Given the description of an element on the screen output the (x, y) to click on. 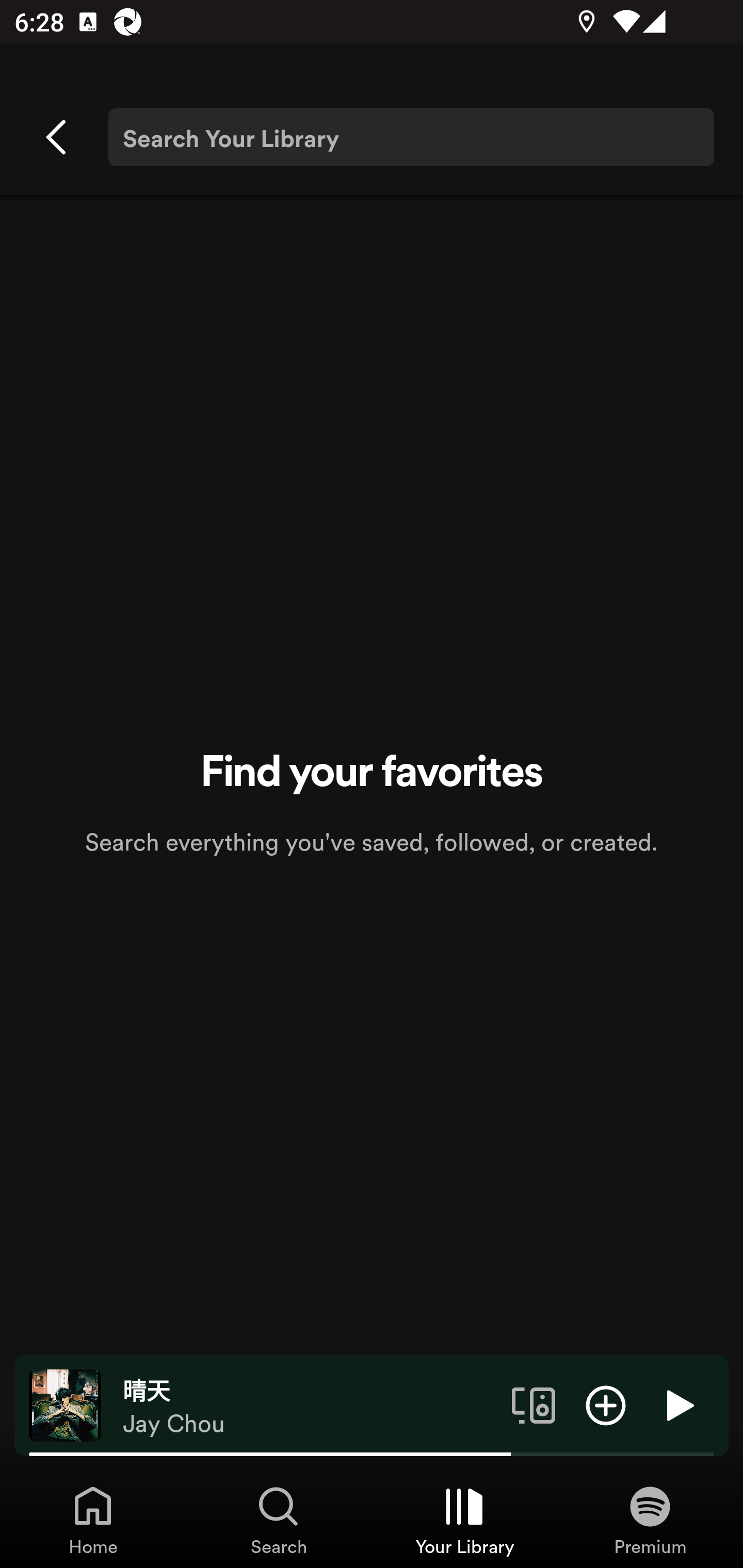
Cancel (57, 137)
Search Your Library (411, 137)
晴天 Jay Chou (309, 1405)
The cover art of the currently playing track (64, 1404)
Connect to a device. Opens the devices menu (533, 1404)
Add item (605, 1404)
Play (677, 1404)
Home, Tab 1 of 4 Home Home (92, 1519)
Search, Tab 2 of 4 Search Search (278, 1519)
Your Library, Tab 3 of 4 Your Library Your Library (464, 1519)
Premium, Tab 4 of 4 Premium Premium (650, 1519)
